Given the description of an element on the screen output the (x, y) to click on. 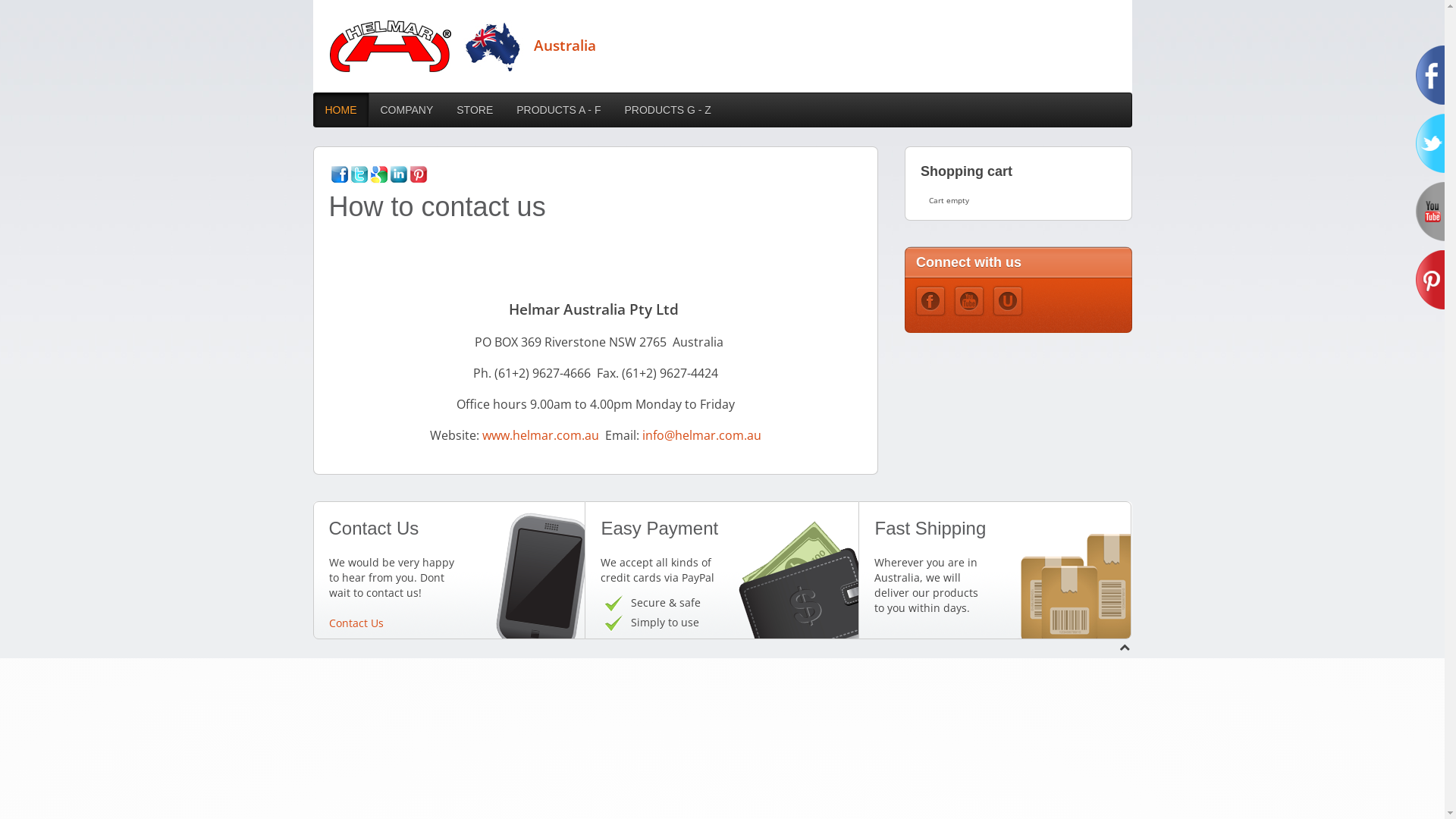
PRODUCTS G - Z Element type: text (666, 109)
info@helmar.com.au Element type: text (701, 435)
linkedin Element type: hover (398, 174)
COMPANY Element type: text (406, 109)
Twitter Element type: hover (359, 174)
Ustream Element type: hover (1007, 300)
Facebook Element type: hover (930, 300)
Google Bookmarks Element type: hover (379, 174)
www.helmar.com.au Element type: text (540, 435)
Australia Element type: text (462, 45)
Facebook Element type: hover (339, 174)
Pinterest Element type: hover (418, 174)
STORE Element type: text (474, 109)
Youtube Element type: hover (969, 300)
HOME Element type: text (340, 109)
PRODUCTS A - F Element type: text (558, 109)
Contact Us Element type: text (356, 622)
